Given the description of an element on the screen output the (x, y) to click on. 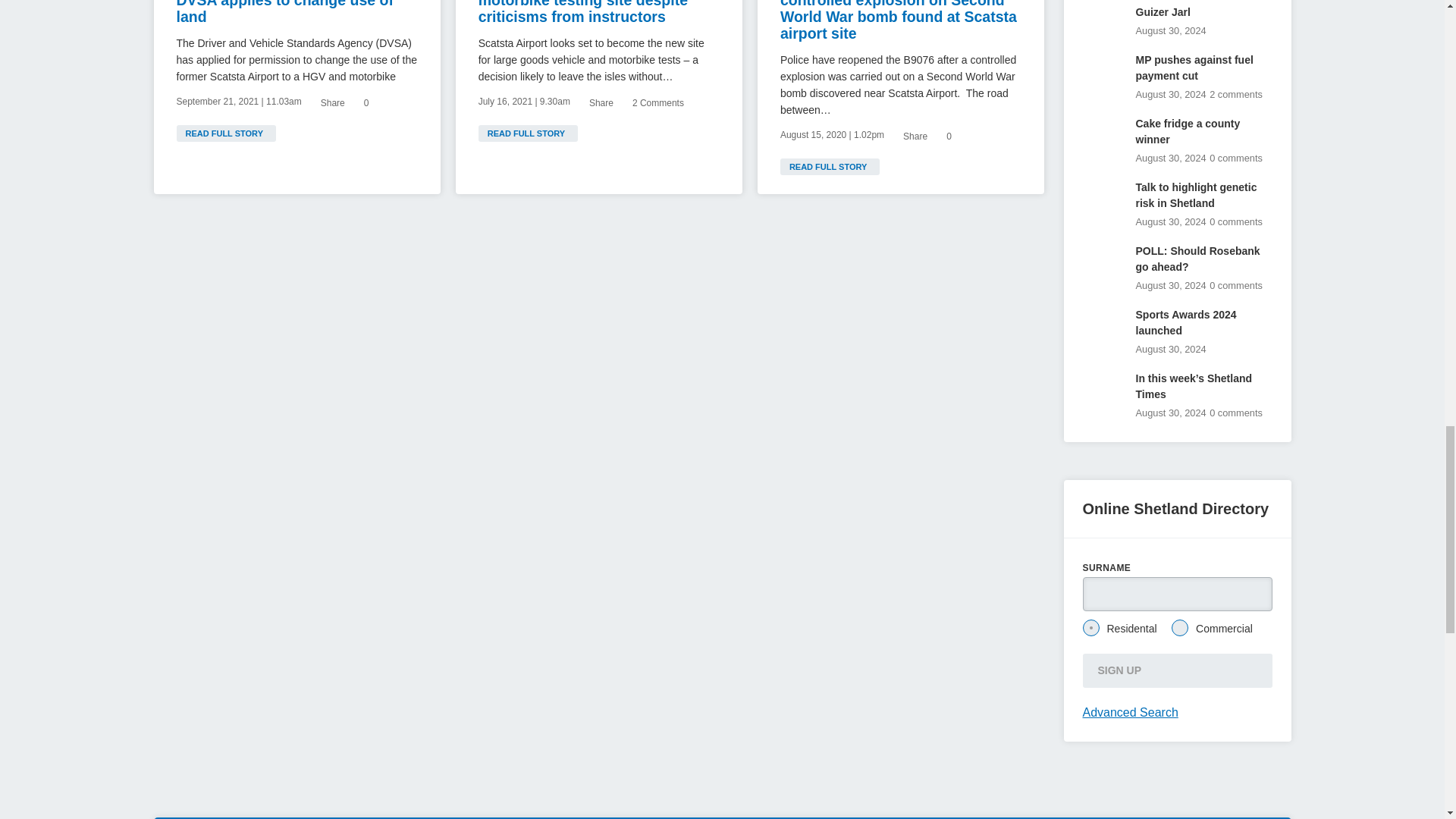
commercial (1180, 627)
READ FULL STORY (829, 166)
residential (1091, 627)
READ FULL STORY (528, 133)
2 Comments (656, 102)
READ FULL STORY (225, 133)
